Given the description of an element on the screen output the (x, y) to click on. 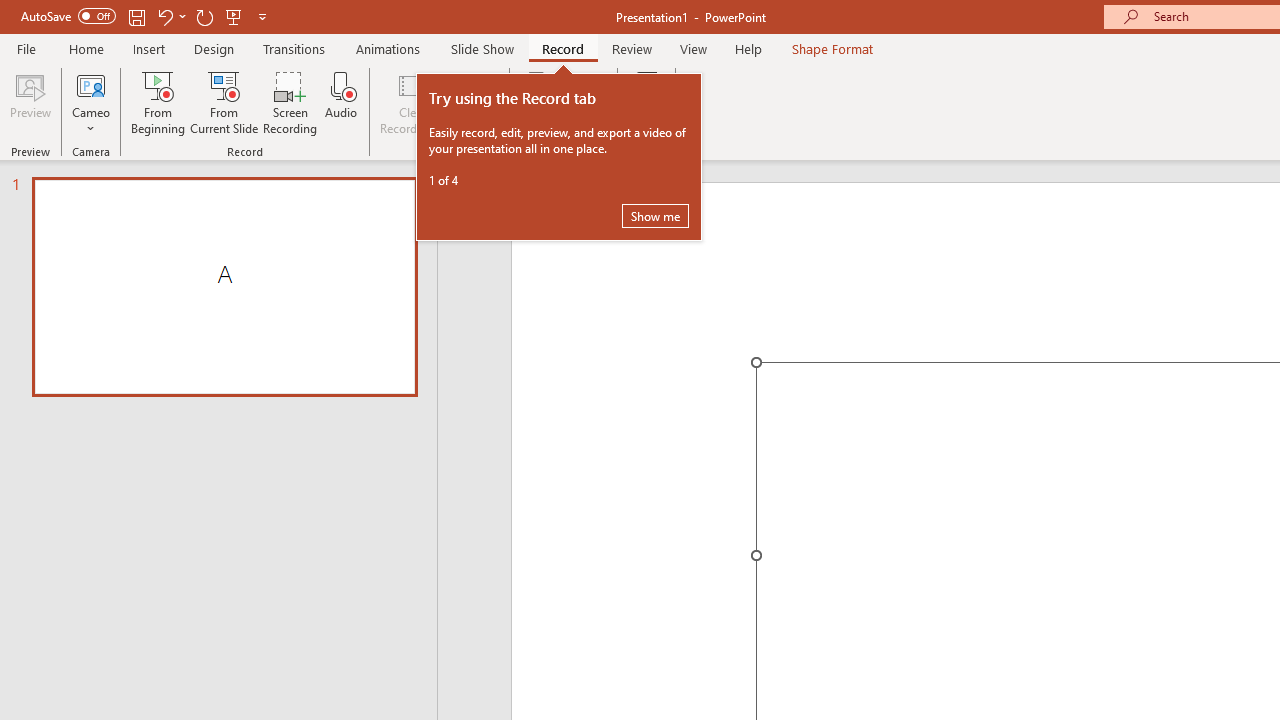
From Beginning... (158, 102)
Show me (655, 215)
